Given the description of an element on the screen output the (x, y) to click on. 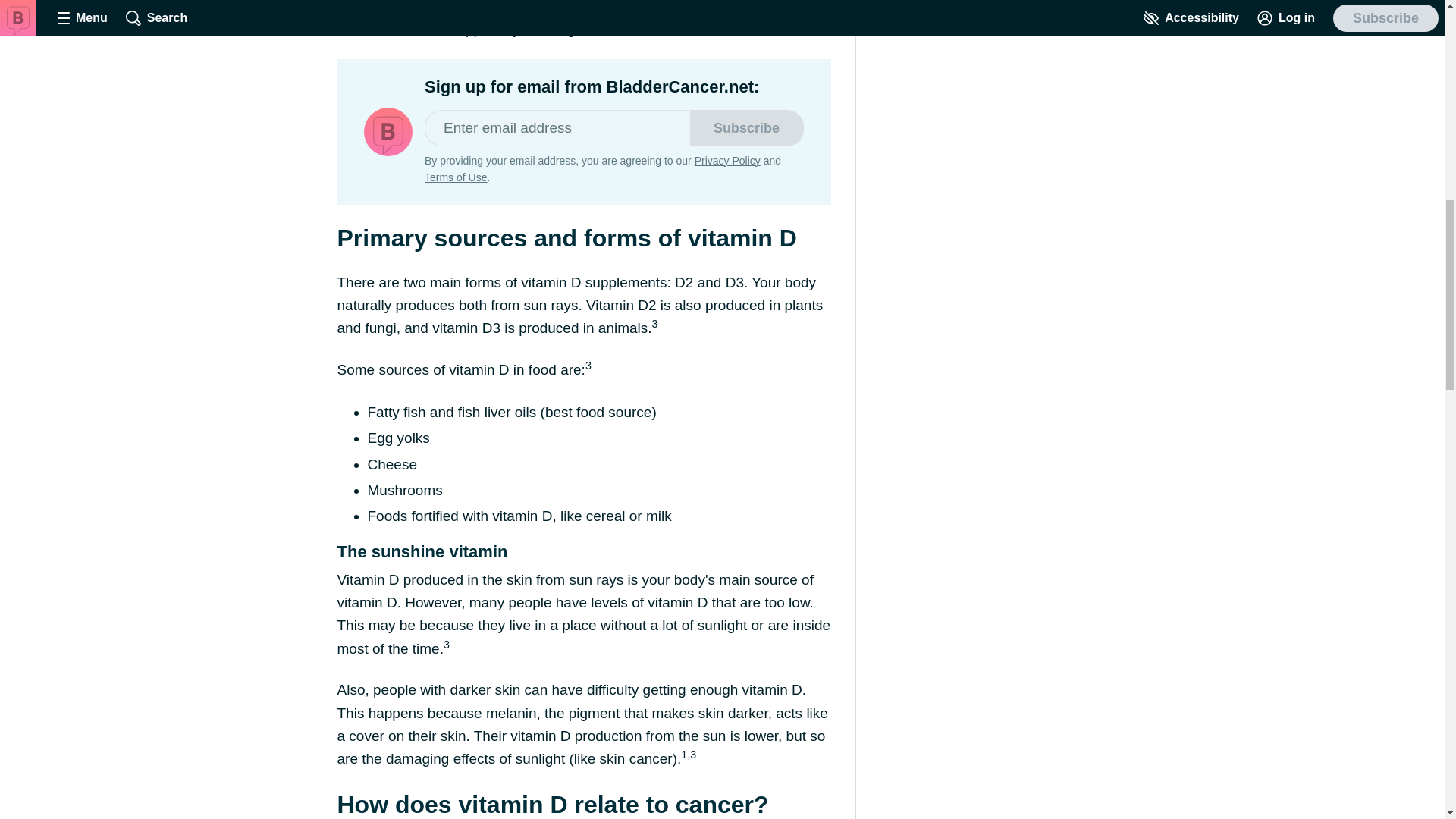
Privacy Policy (727, 160)
Terms of Use (455, 177)
Subscribe (746, 127)
biologically active (562, 18)
